Given the description of an element on the screen output the (x, y) to click on. 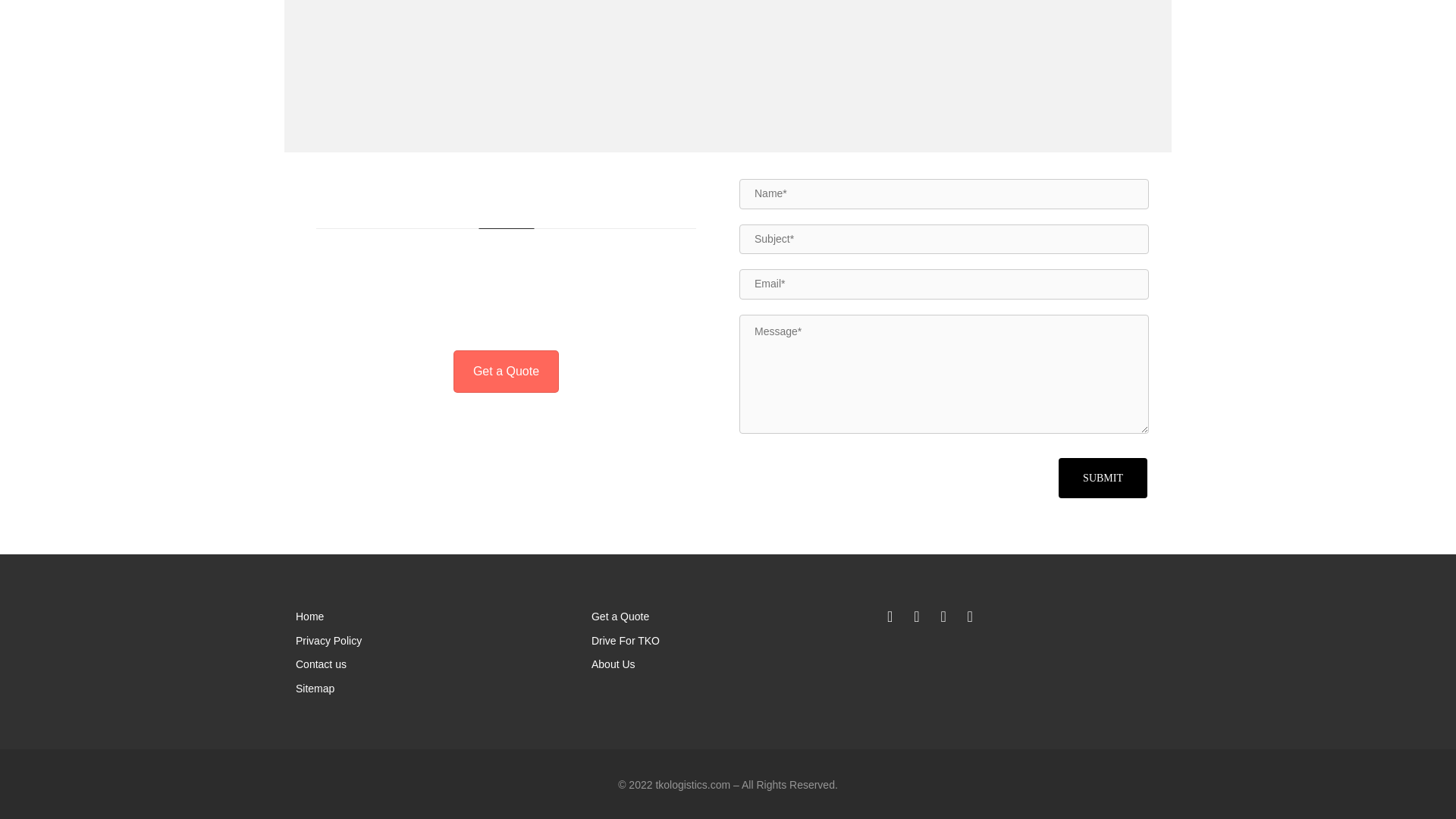
Submit (1102, 477)
Twitter (915, 616)
Instagram (943, 616)
About Us (727, 664)
Home (432, 616)
Facebook (889, 616)
Twitter (915, 616)
Drive For TKO (727, 640)
Linkedin (969, 616)
Facebook (889, 616)
